Given the description of an element on the screen output the (x, y) to click on. 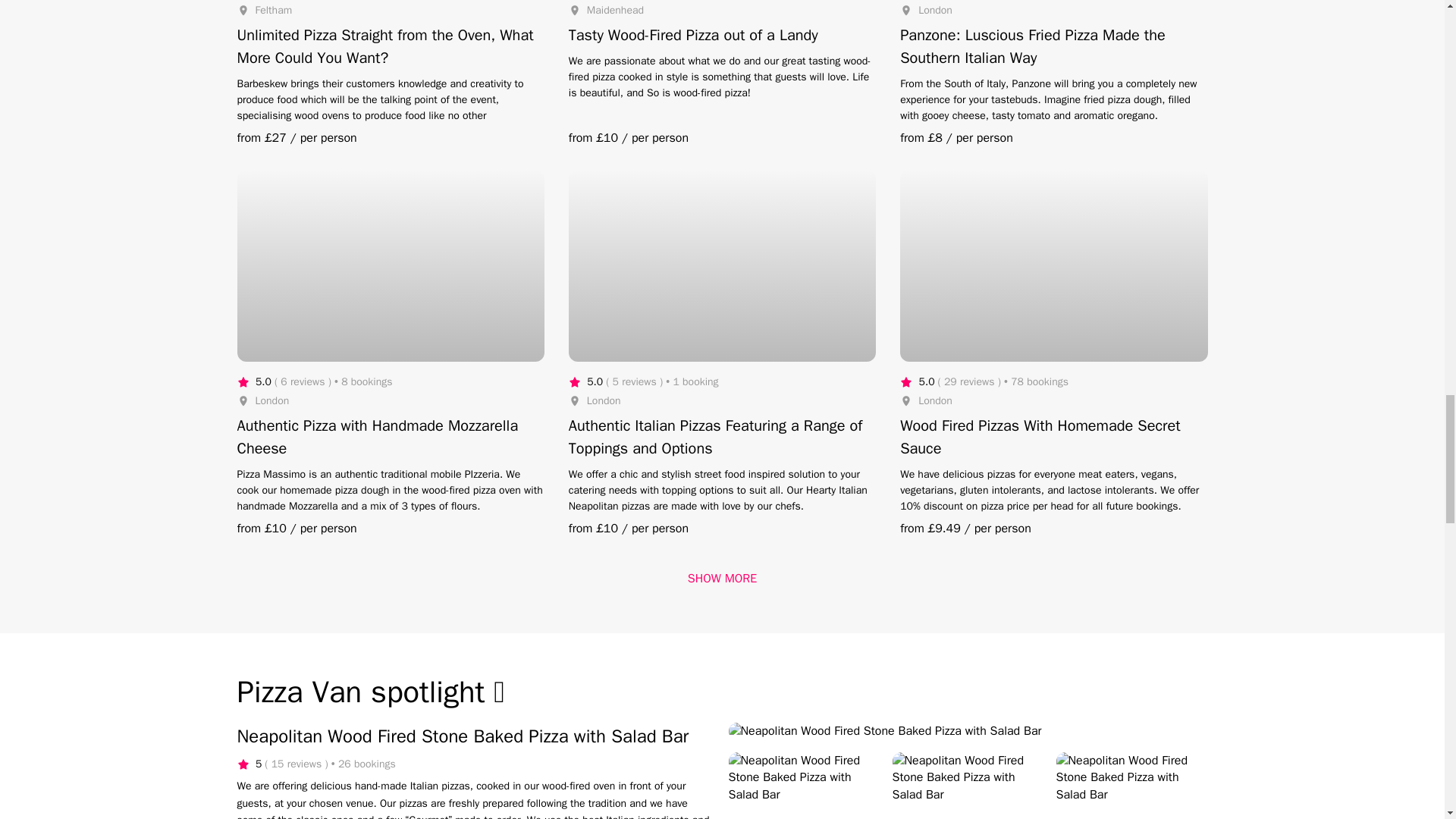
SHOW MORE (721, 578)
